Given the description of an element on the screen output the (x, y) to click on. 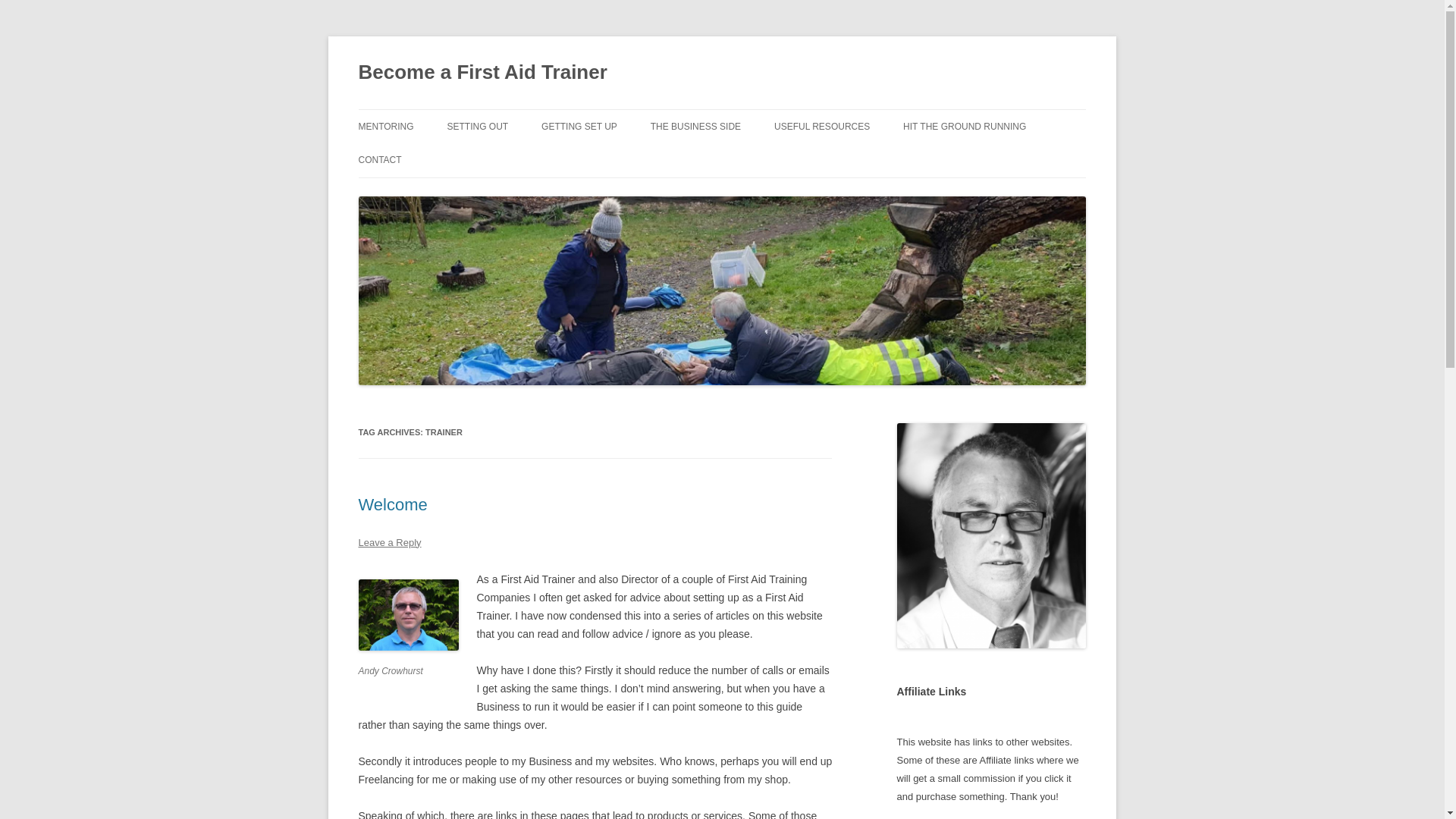
PREMIUM PACKAGE (978, 158)
THE BUSINESS SIDE (695, 126)
GETTING SET UP (579, 126)
Leave a Reply (389, 542)
CONTACT (379, 159)
SETTING OUT (477, 126)
Welcome (392, 504)
WHY BECOME A FIRST AID TRAINER? (522, 167)
BUY FIRST AID TRAINING EQUIPMENT AND CONSUMABLES (850, 167)
BUSINESS LEGAL FORMAT (726, 158)
